Given the description of an element on the screen output the (x, y) to click on. 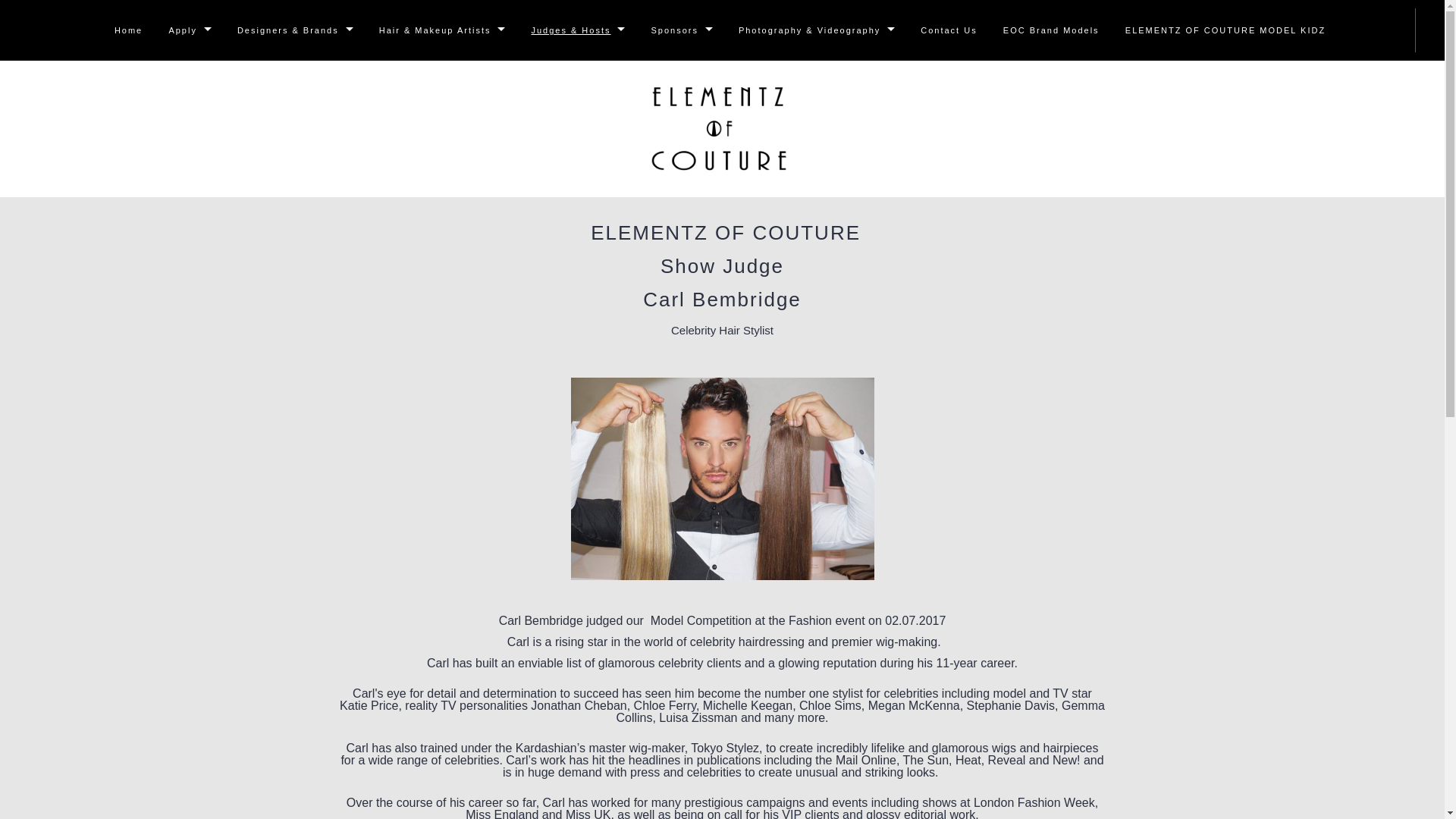
Elementz Of Couture (718, 128)
Home (128, 30)
